Given the description of an element on the screen output the (x, y) to click on. 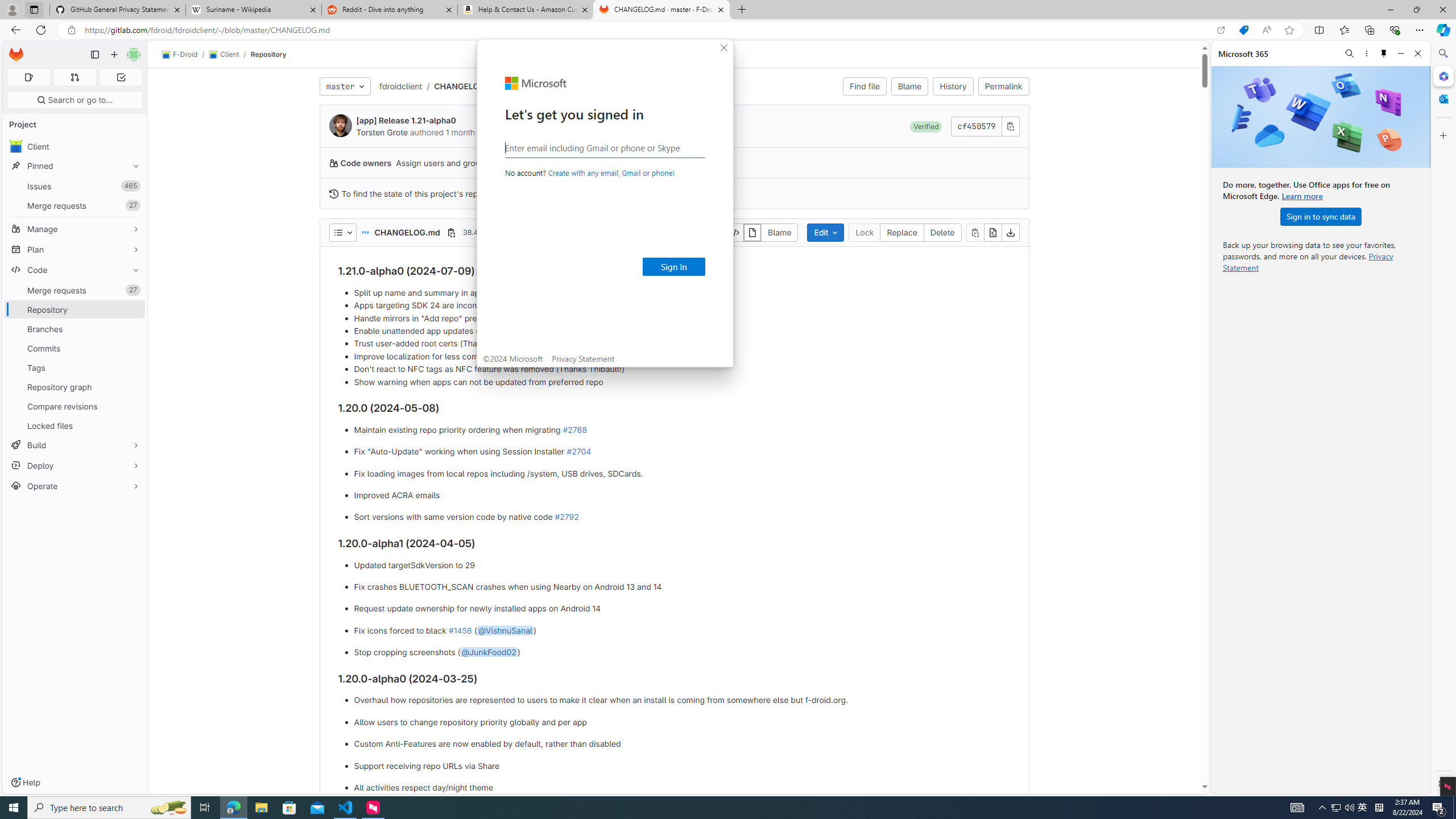
Privacy Statement (582, 357)
Sort versions with same version code by native code #2792 (681, 517)
Client (74, 145)
History (953, 85)
Pin Compare revisions (132, 406)
Tags (74, 367)
Class: s16 gl-icon gl-button-icon  (1010, 126)
Q2790: 100% (1349, 807)
All activities respect day/night theme (681, 787)
Fix "Auto-Update" working when using Session Installer #2704 (681, 451)
Compare revisions (74, 406)
User Promoted Notification Area (1342, 807)
Skip to main content (13, 49)
Microsoft Edge - 1 running window (233, 807)
